Given the description of an element on the screen output the (x, y) to click on. 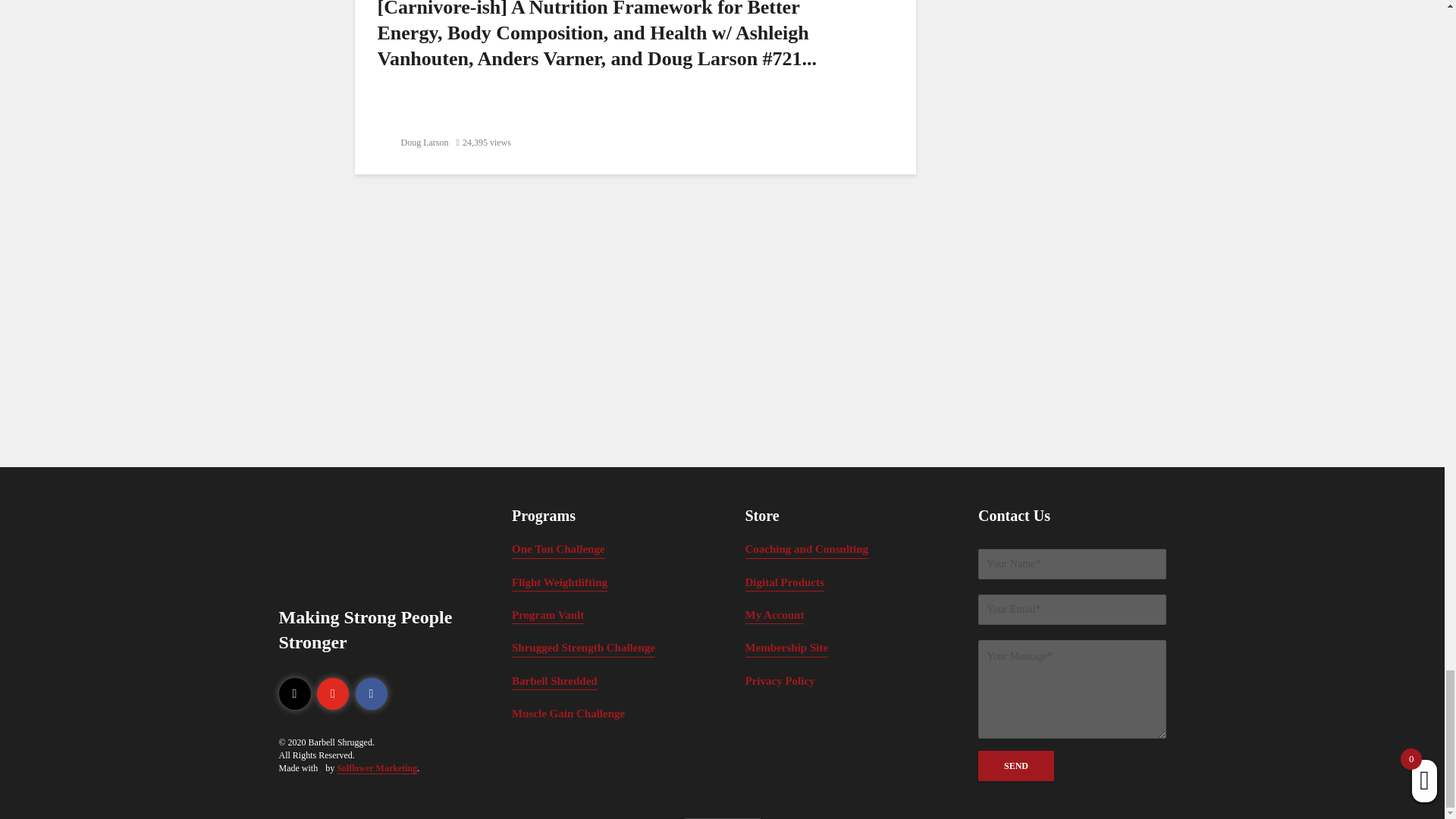
Instagram (295, 694)
Send (1016, 766)
Facebook (371, 694)
YouTube (333, 694)
